Given the description of an element on the screen output the (x, y) to click on. 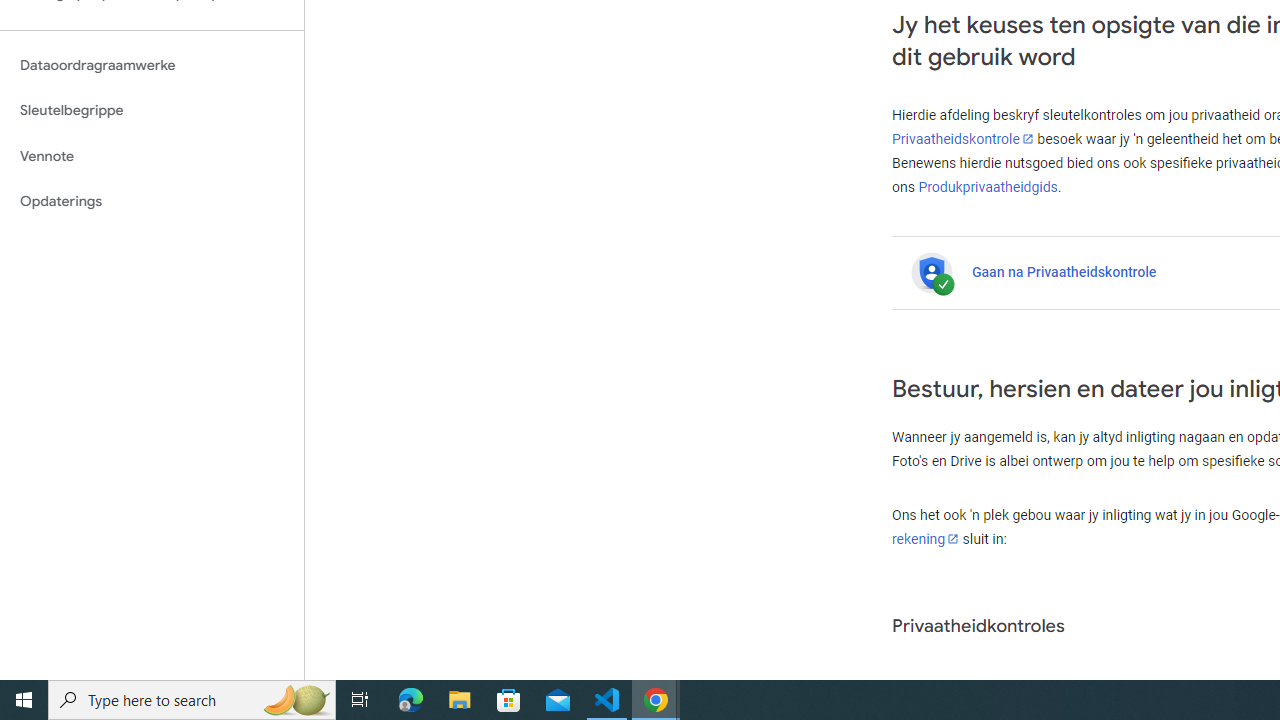
Gaan na Privaatheidskontrole (1064, 271)
Opdaterings (152, 201)
Sleutelbegrippe (152, 110)
Produkprivaatheidgids (987, 186)
Vennote (152, 156)
Privaatheidskontrole (963, 139)
Dataoordragraamwerke (152, 65)
